Given the description of an element on the screen output the (x, y) to click on. 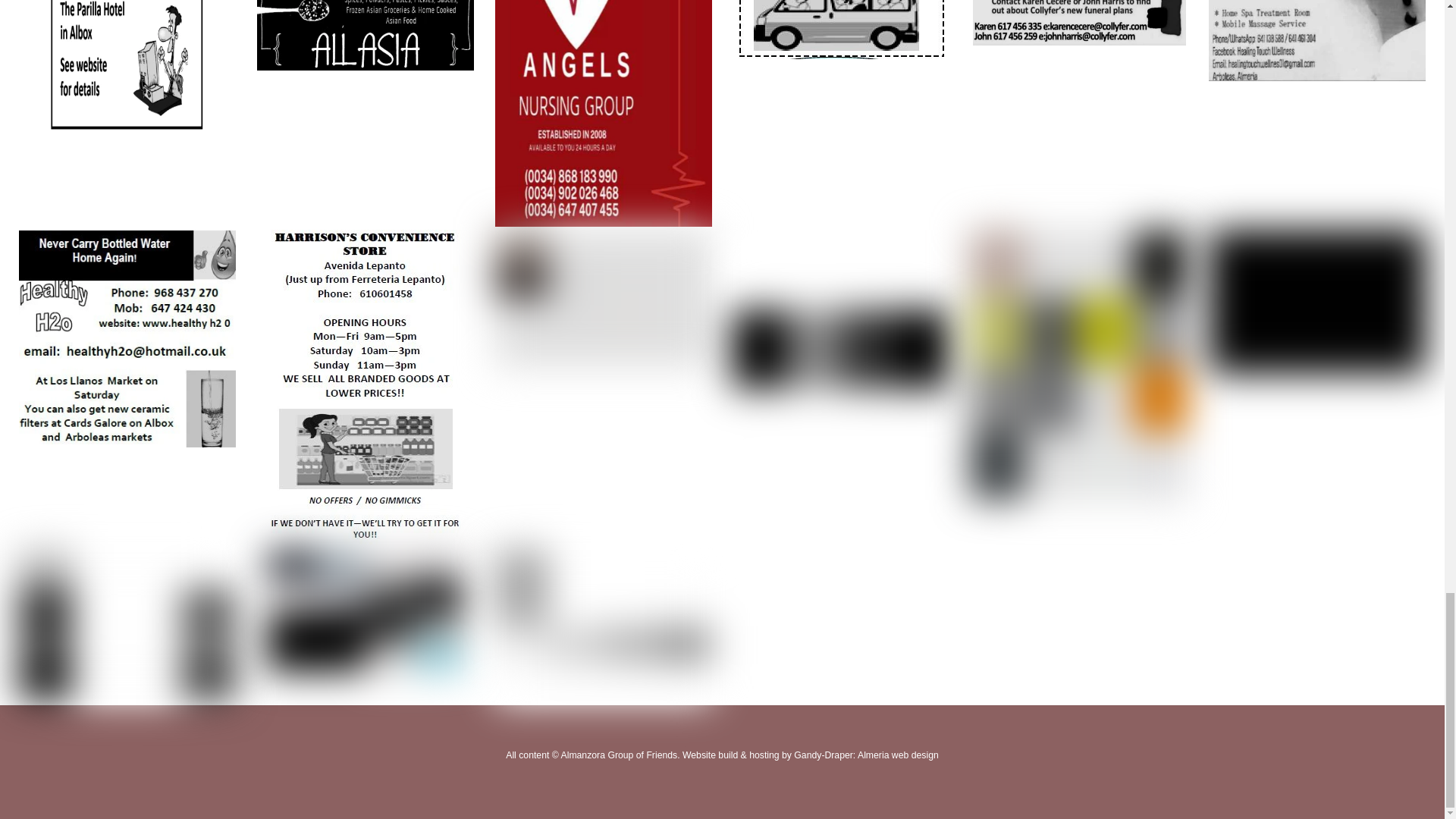
angels nursing group for agof - nov 2022 (603, 113)
Arboleas Taxi - May 2021 (841, 29)
Albox Computer Club - Sept 2023 (126, 65)
All Asia Dec 2023 (365, 35)
